Given the description of an element on the screen output the (x, y) to click on. 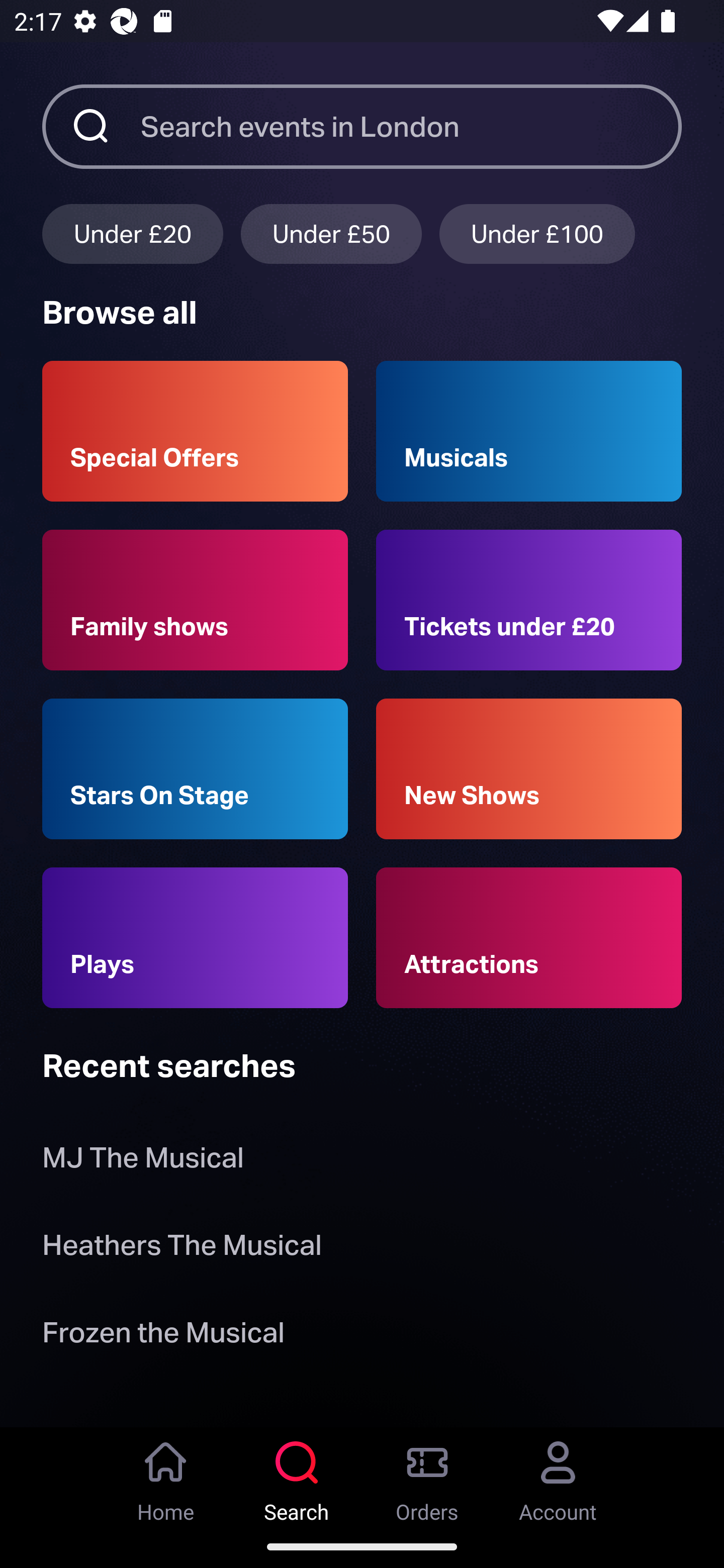
Search events in London (411, 126)
Under £20 (131, 233)
Under £50 (331, 233)
Under £100 (536, 233)
Special Offers (194, 430)
Musicals (528, 430)
Family shows (194, 600)
Tickets under £20  (528, 600)
Stars On Stage (194, 768)
New Shows (528, 768)
Plays (194, 937)
Attractions  (528, 937)
MJ The Musical  (145, 1161)
Heathers The Musical (181, 1248)
Frozen the Musical (162, 1335)
Home (165, 1475)
Orders (427, 1475)
Account (558, 1475)
